Given the description of an element on the screen output the (x, y) to click on. 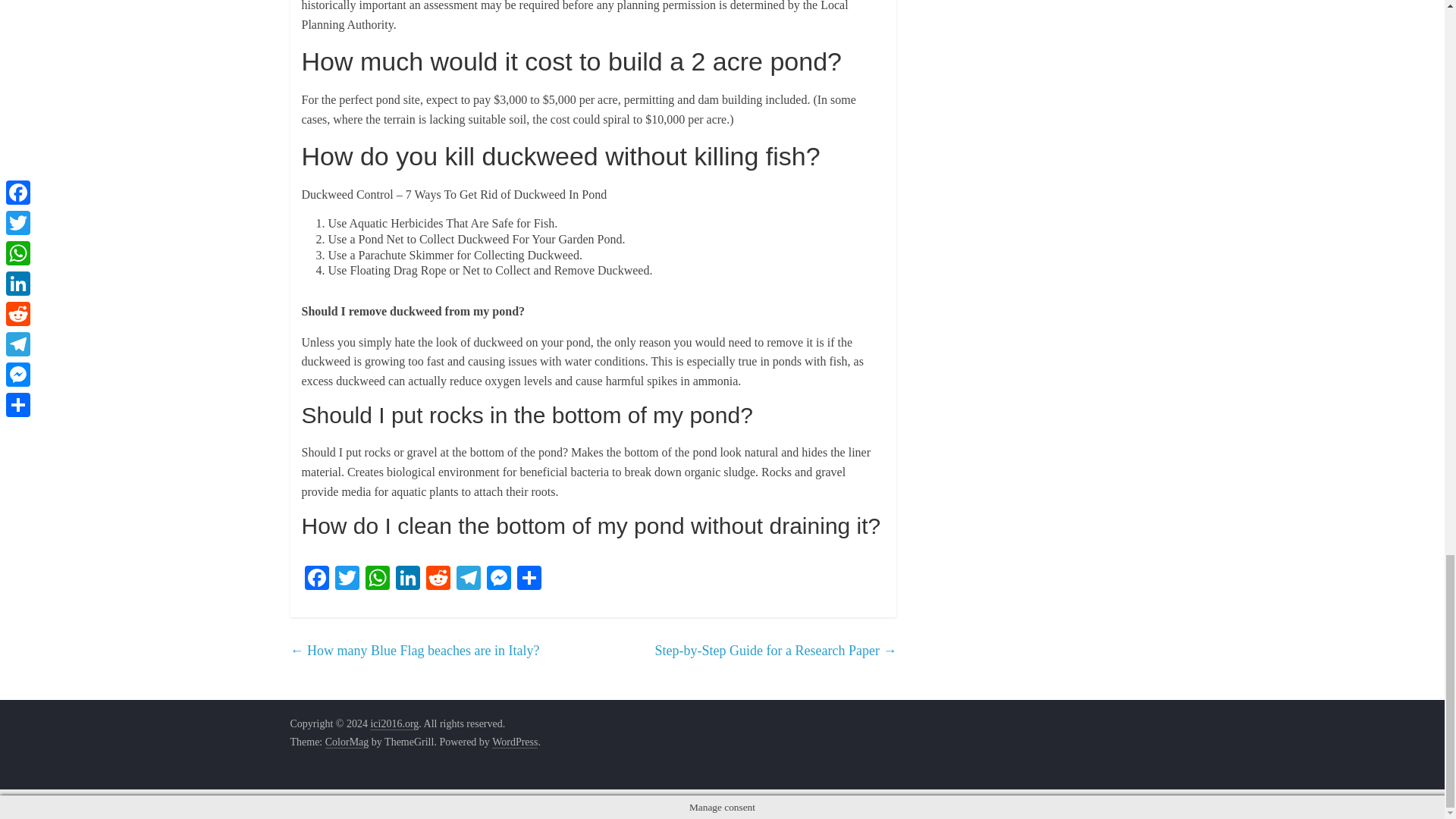
Reddit (437, 579)
Telegram (467, 579)
Telegram (467, 579)
Facebook (316, 579)
Share (528, 579)
WhatsApp (377, 579)
Facebook (316, 579)
Twitter (346, 579)
Reddit (437, 579)
Messenger (498, 579)
Messenger (498, 579)
Twitter (346, 579)
LinkedIn (408, 579)
WhatsApp (377, 579)
LinkedIn (408, 579)
